Given the description of an element on the screen output the (x, y) to click on. 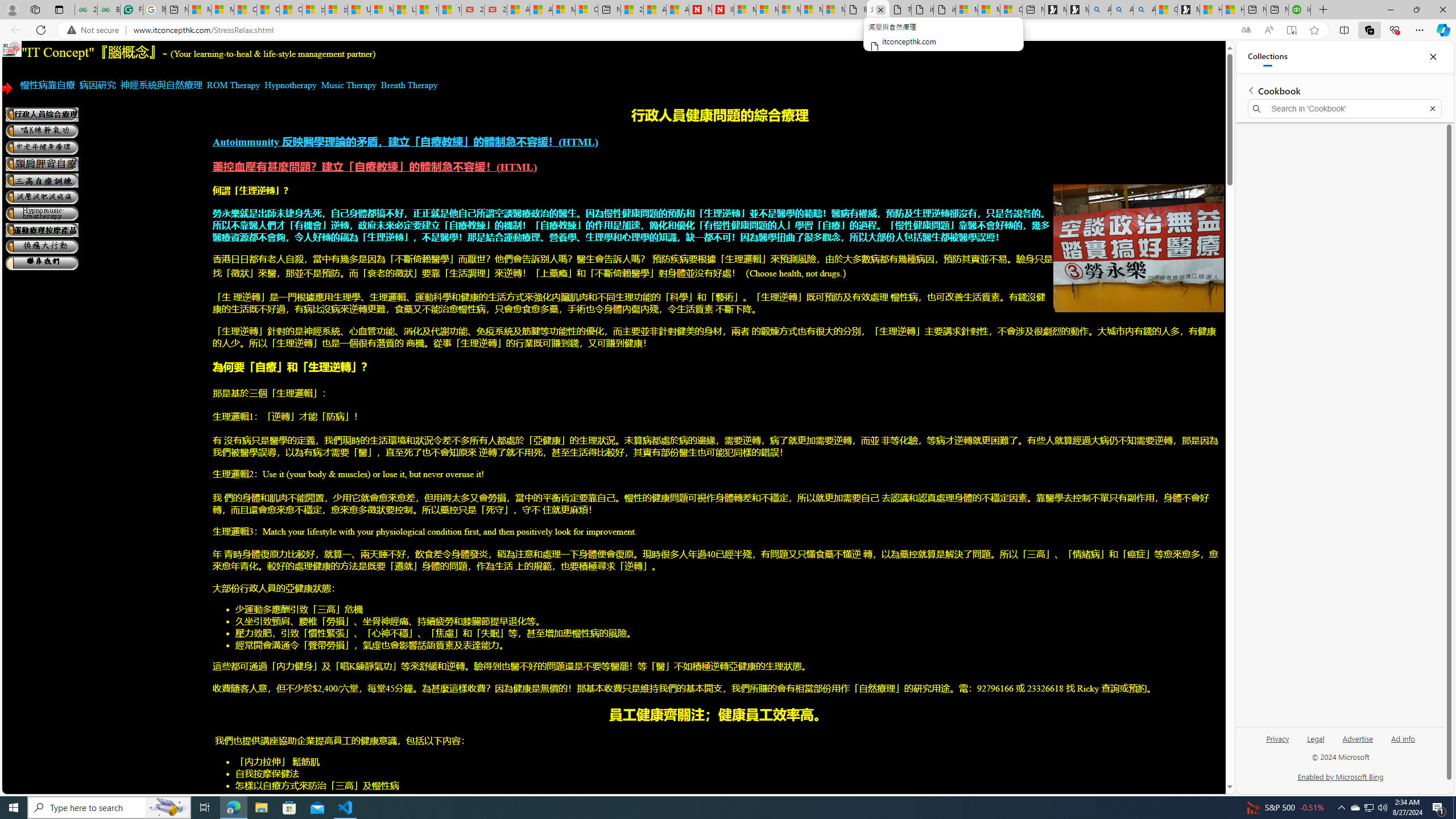
Show translate options (1245, 29)
Cloud Computing Services | Microsoft Azure (586, 9)
20 Ways to Boost Your Protein Intake at Every Meal (631, 9)
